Given the description of an element on the screen output the (x, y) to click on. 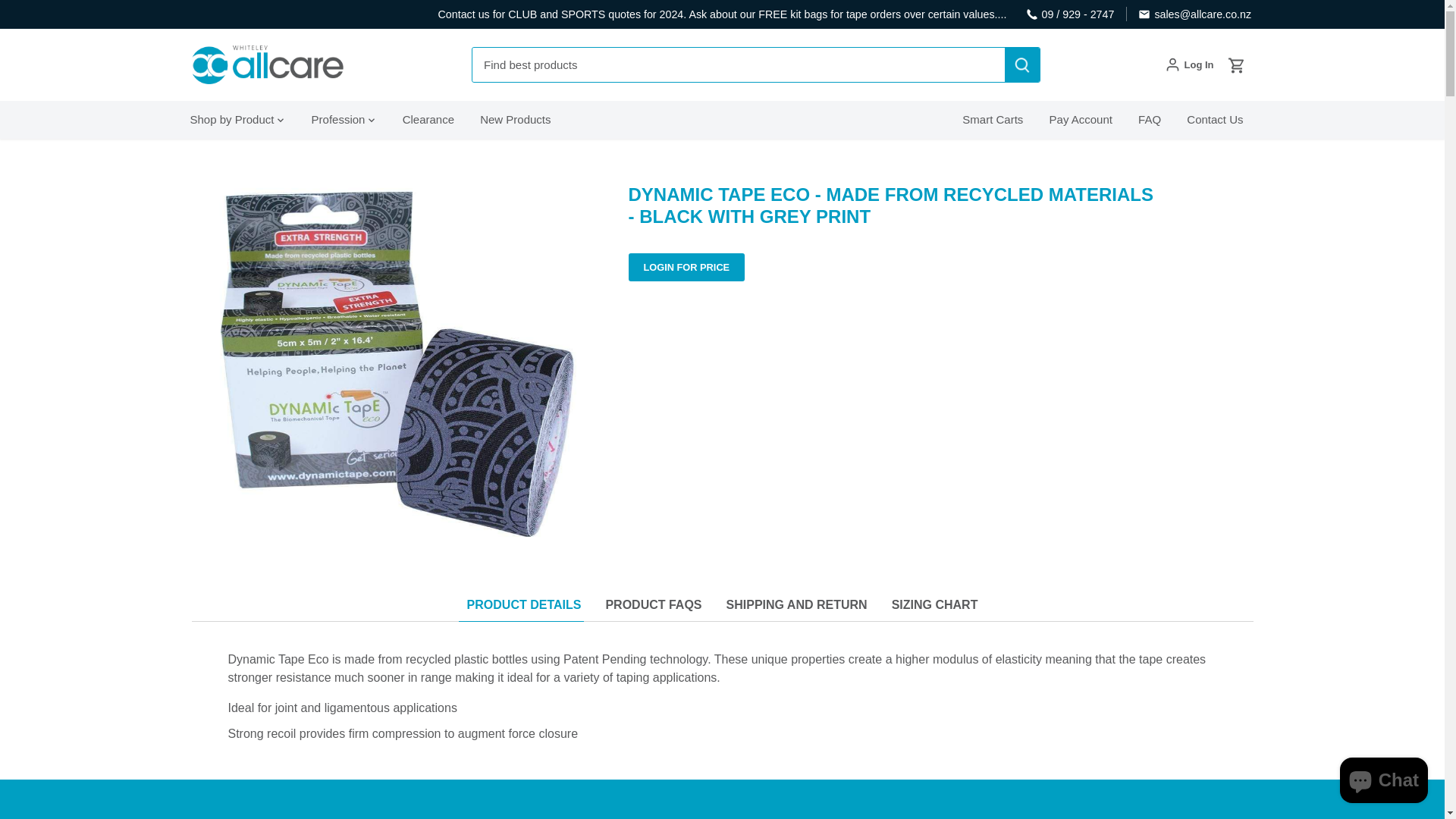
Shop by Product (237, 119)
Log In (1189, 64)
